Given the description of an element on the screen output the (x, y) to click on. 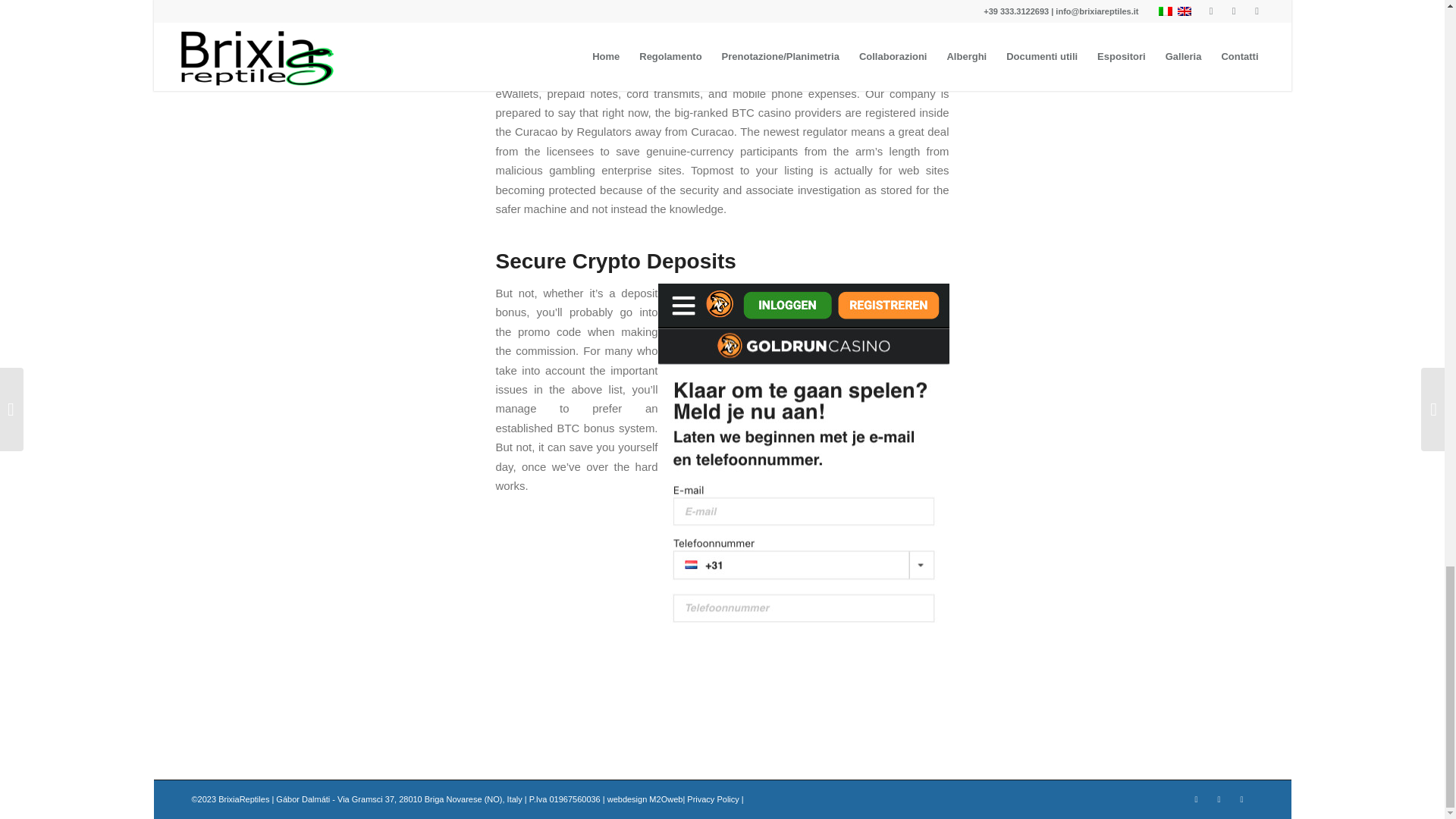
M2Oweb (665, 798)
Privacy Policy (712, 798)
